Given the description of an element on the screen output the (x, y) to click on. 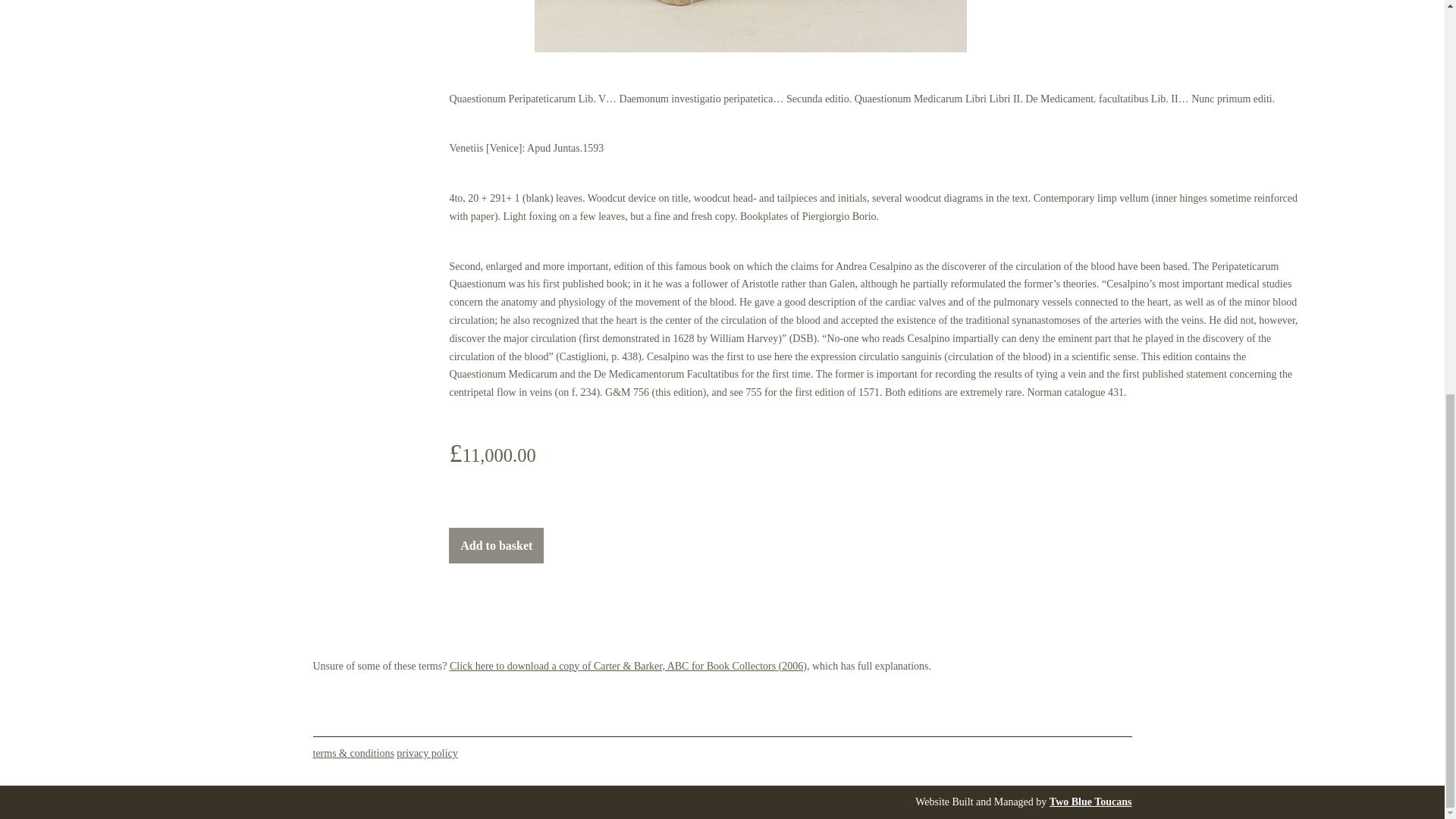
Add to basket (495, 545)
601872.jpg (750, 26)
Two Blue Toucans (1090, 801)
privacy policy (426, 753)
Websites For Small Businesses (1090, 801)
